Given the description of an element on the screen output the (x, y) to click on. 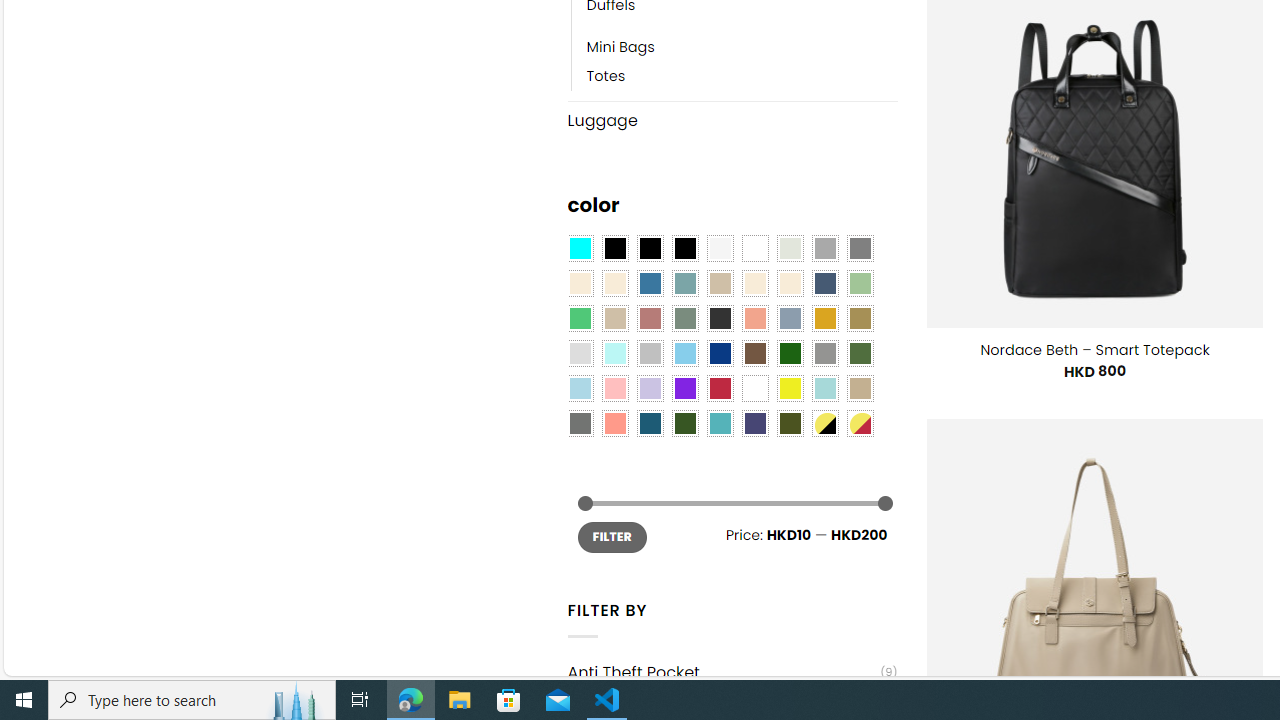
Light Blue (579, 388)
Luggage (732, 120)
Blue (650, 283)
Black-Brown (684, 249)
Teal (719, 424)
Clear (755, 249)
Purple (684, 388)
Light Green (859, 283)
Totes (742, 76)
Beige (579, 283)
Sage (684, 318)
Light Taupe (614, 318)
Anti Theft Pocket (723, 672)
Emerald Green (579, 318)
Anti Theft Pocket(9) (732, 672)
